Given the description of an element on the screen output the (x, y) to click on. 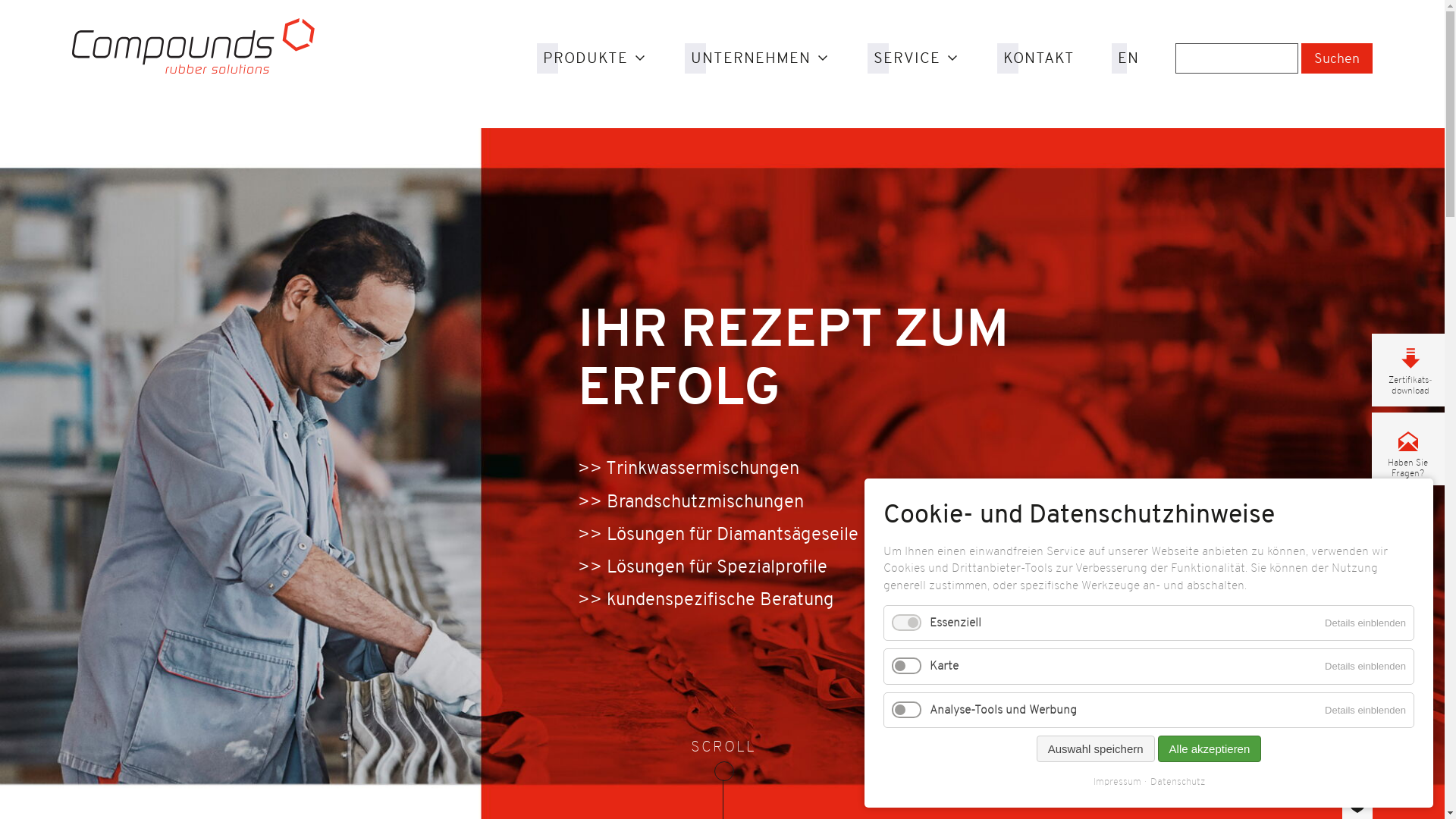
Suchen Element type: text (1336, 58)
Alle akzeptieren Element type: text (1209, 748)
Logo Compounds AG Element type: hover (193, 45)
Impressum Element type: text (1117, 781)
Haben Sie Fragen? Element type: text (1407, 448)
EN Element type: text (1128, 58)
PRODUKTE Element type: text (595, 58)
Datenschutz Element type: text (1173, 781)
Details einblenden Element type: text (1365, 666)
KONTAKT Element type: text (1038, 58)
Auswahl speichern Element type: text (1095, 748)
UNTERNEHMEN Element type: text (760, 58)
DSGVO Einstellungen Element type: hover (1357, 808)
Details einblenden Element type: text (1365, 622)
SERVICE Element type: text (916, 58)
Details einblenden Element type: text (1365, 710)
